Given the description of an element on the screen output the (x, y) to click on. 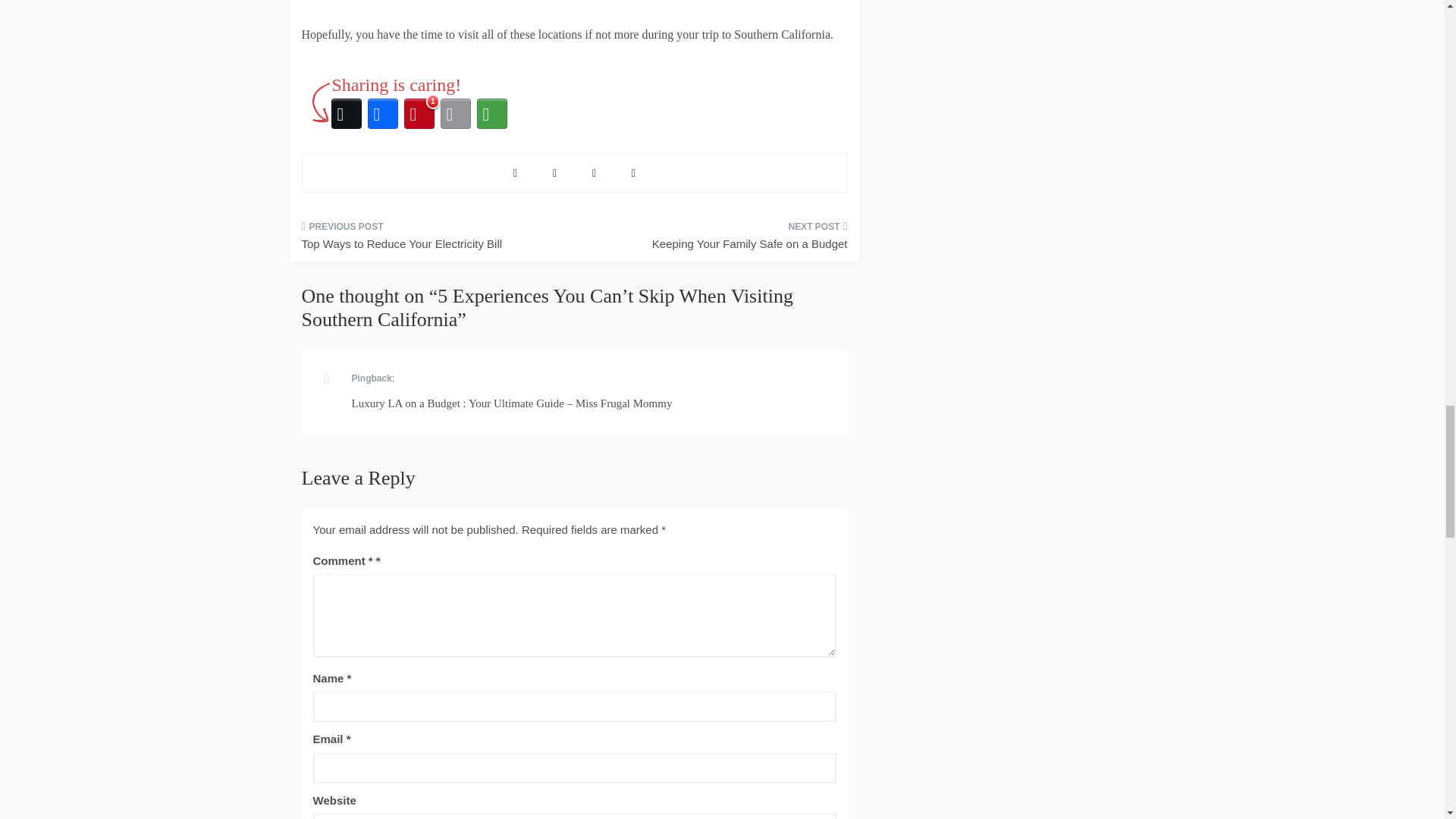
Facebook (382, 113)
Pinterest (418, 113)
More Options (491, 113)
Email This (454, 113)
